Given the description of an element on the screen output the (x, y) to click on. 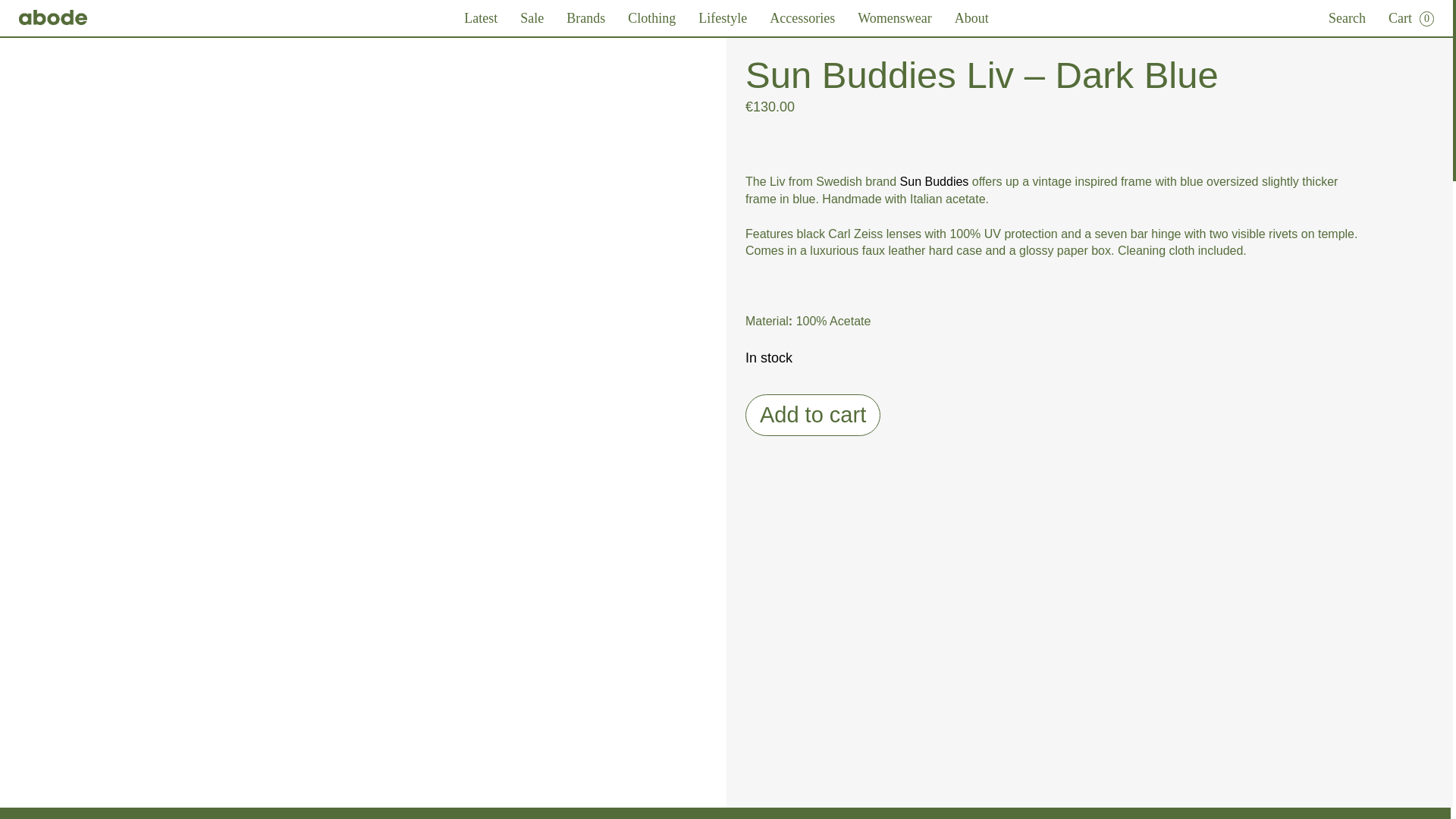
Add to cart (812, 414)
Lifestyle (722, 18)
Search (1346, 18)
0 (1426, 18)
Accessories (802, 18)
About (971, 18)
Clothing (651, 18)
Sale (531, 18)
Cart (1398, 21)
Sun Buddies (934, 181)
